Given the description of an element on the screen output the (x, y) to click on. 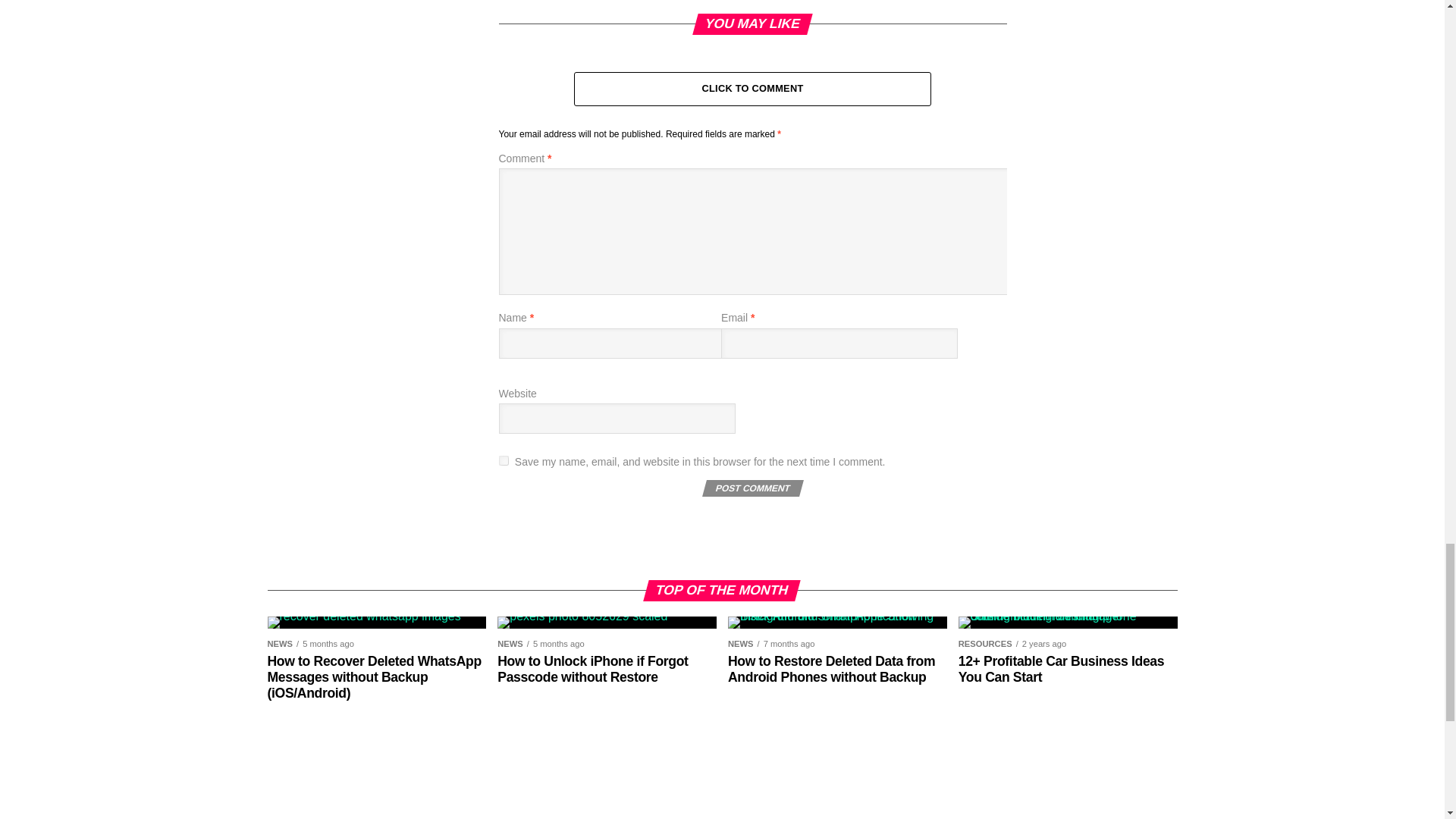
yes (503, 460)
Post Comment (750, 487)
